Given the description of an element on the screen output the (x, y) to click on. 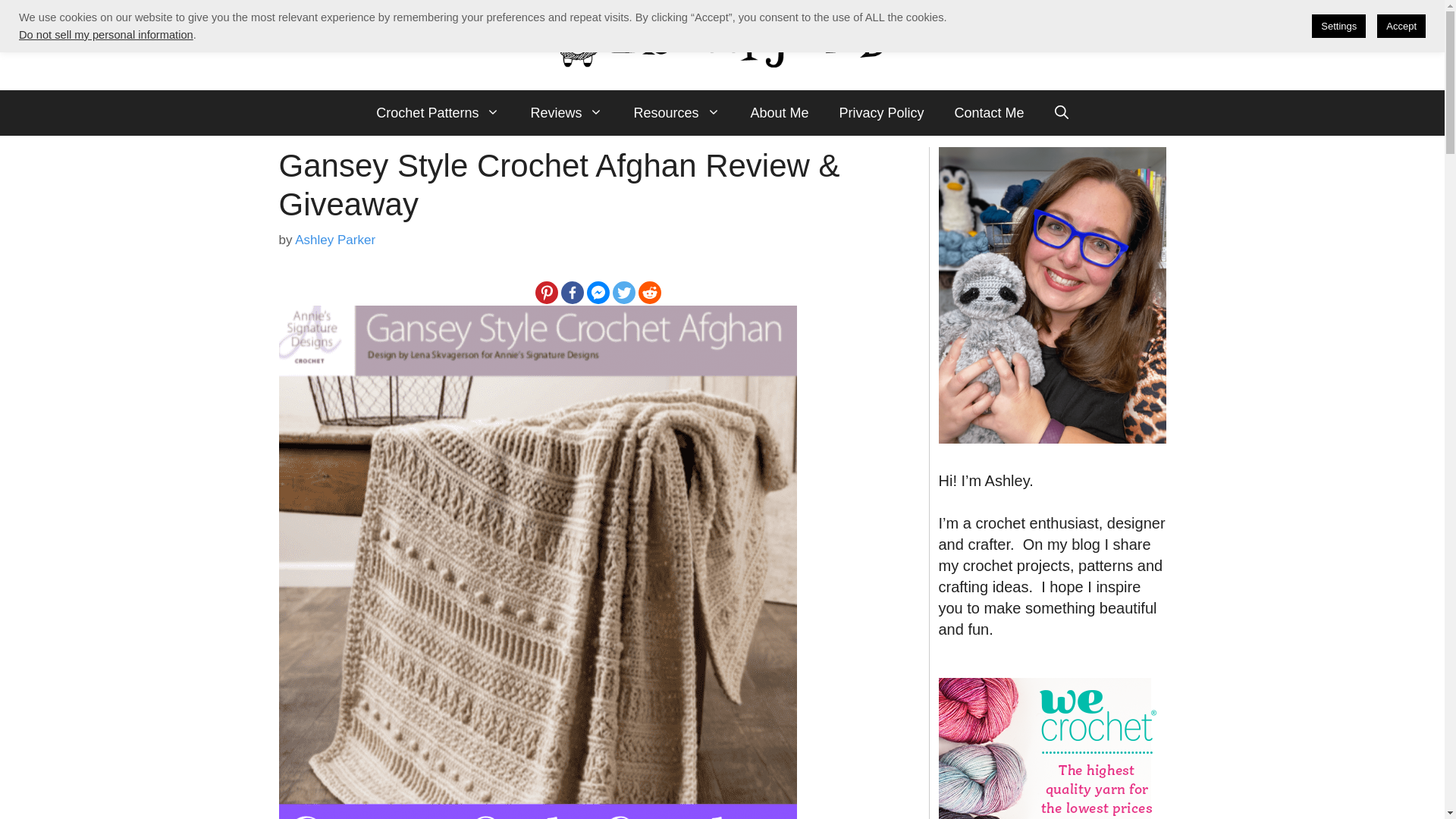
Ashley Parker (335, 238)
Reddit (650, 292)
View all posts by Ashley Parker (335, 238)
Resources (676, 112)
Reviews (566, 112)
Crochet Patterns (438, 112)
Pinterest (546, 292)
Twitter (623, 292)
Facebook (571, 292)
Contact Me (989, 112)
Privacy Policy (881, 112)
About Me (779, 112)
